Given the description of an element on the screen output the (x, y) to click on. 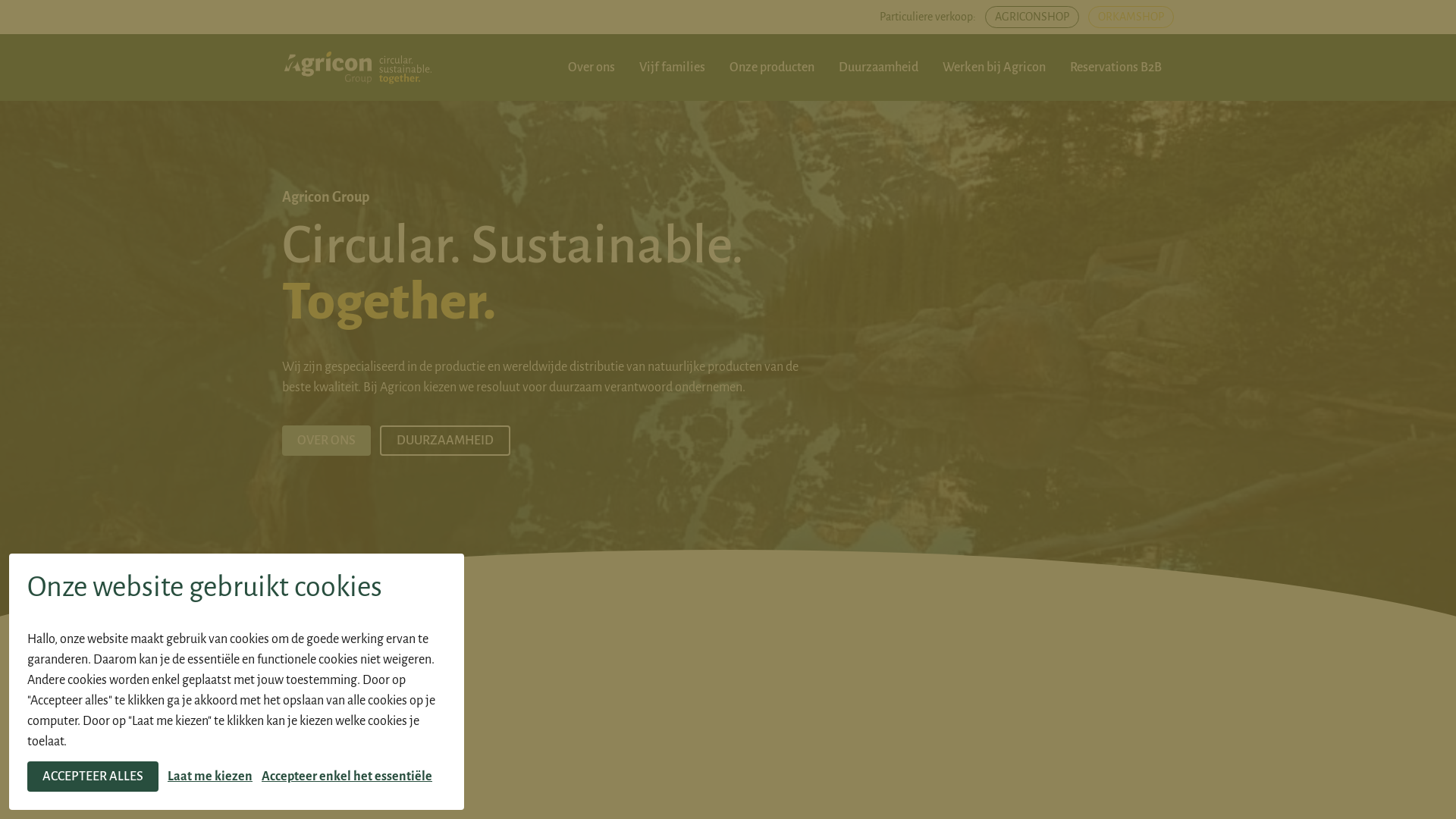
Over ons Element type: text (591, 67)
ACCEPTEER ALLES Element type: text (92, 776)
AGRICONSHOP Element type: text (1032, 17)
DUURZAAMHEID Element type: text (444, 440)
Onze producten Element type: text (771, 67)
Vijf families Element type: text (672, 67)
Reservations B2B Element type: text (1115, 67)
OVER ONS Element type: text (326, 440)
Laat me kiezen Element type: text (209, 776)
Werken bij Agricon Element type: text (993, 67)
ORKAMSHOP Element type: text (1130, 17)
Duurzaamheid Element type: text (878, 67)
